Given the description of an element on the screen output the (x, y) to click on. 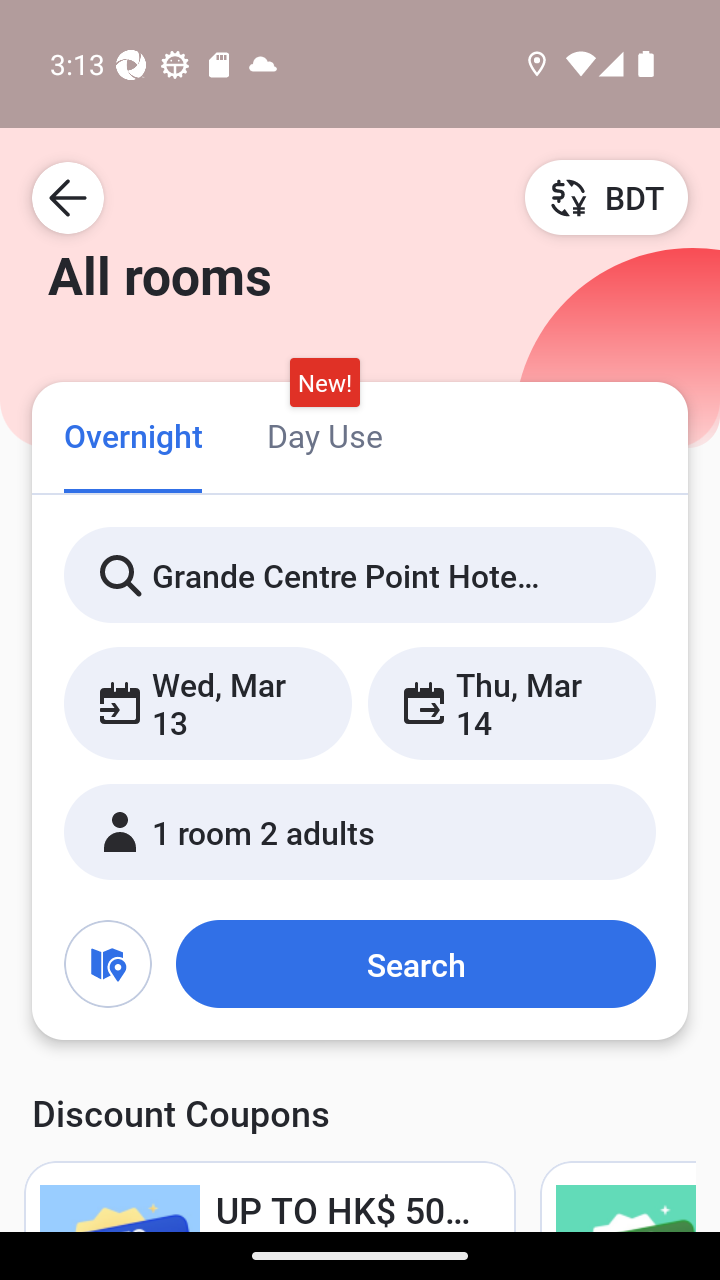
BDT (606, 197)
New! (324, 383)
Day Use (324, 434)
Grande Centre Point Hotel Ratchadamri (359, 575)
Wed, Mar 13 (208, 703)
Thu, Mar 14 (511, 703)
1 room 2 adults (359, 831)
Search (415, 964)
